Given the description of an element on the screen output the (x, y) to click on. 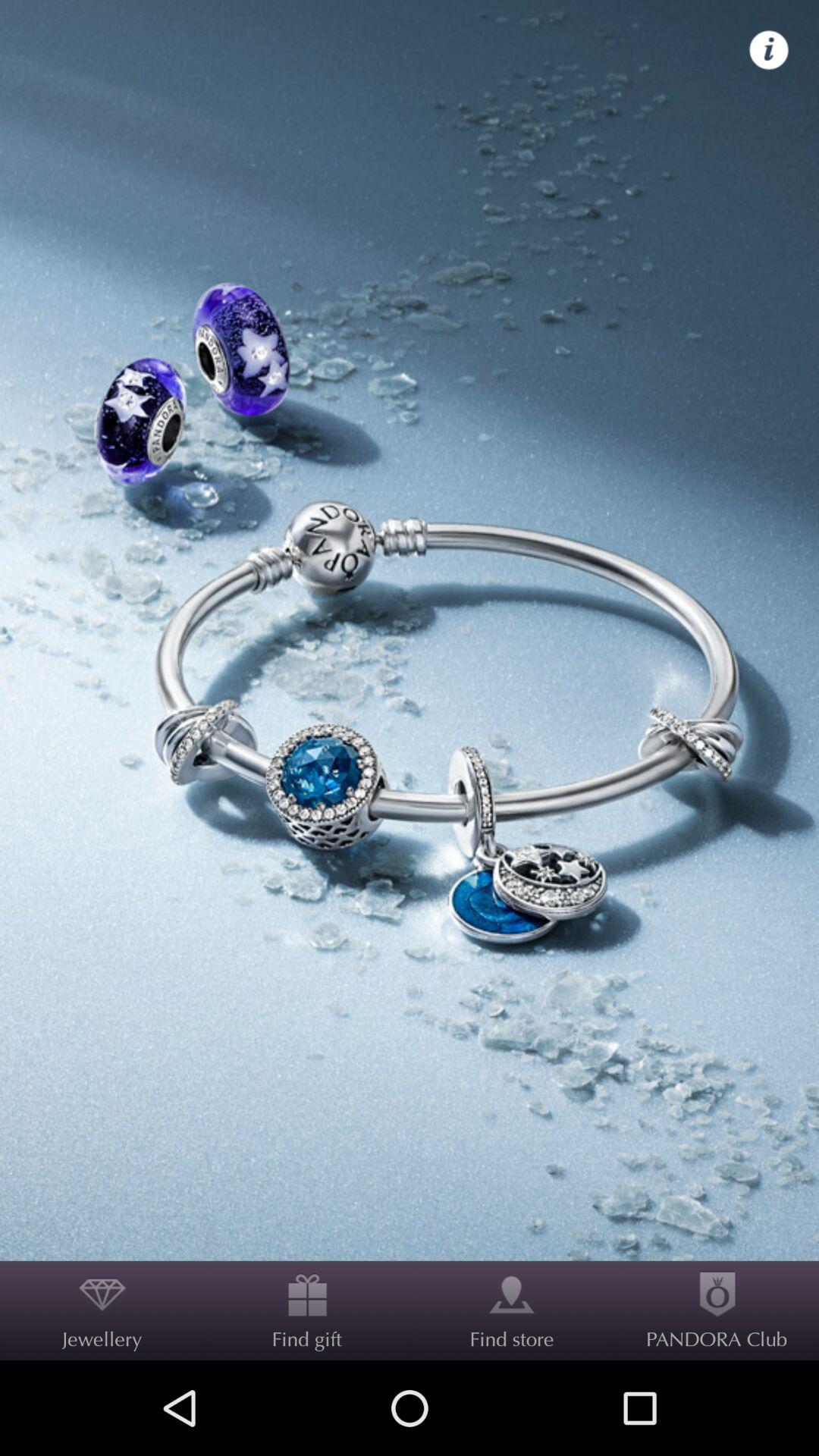
more info (768, 49)
